Given the description of an element on the screen output the (x, y) to click on. 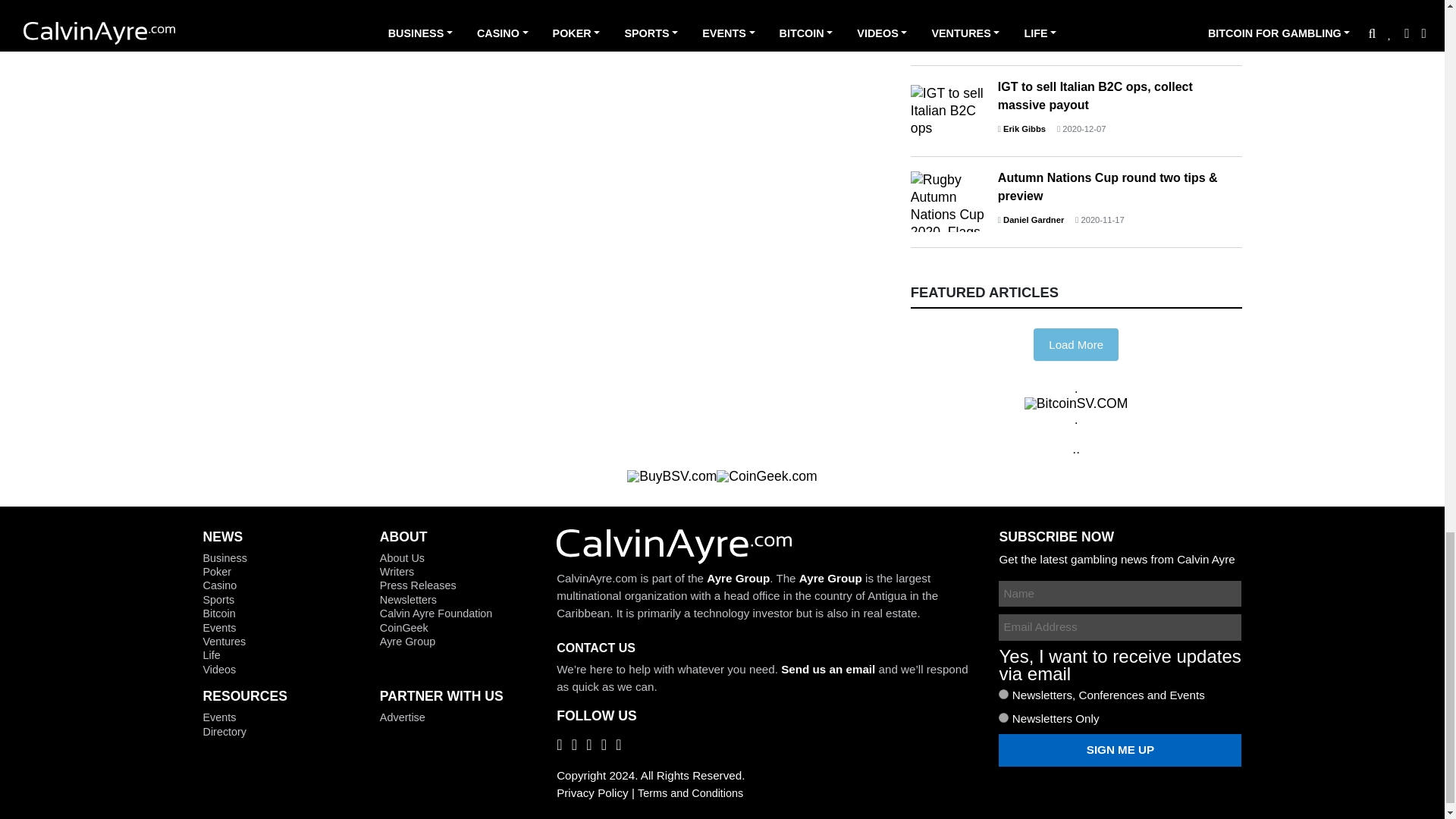
Newsletters, Conferences and Events (1003, 694)
Newsletters Only (1003, 717)
